Given the description of an element on the screen output the (x, y) to click on. 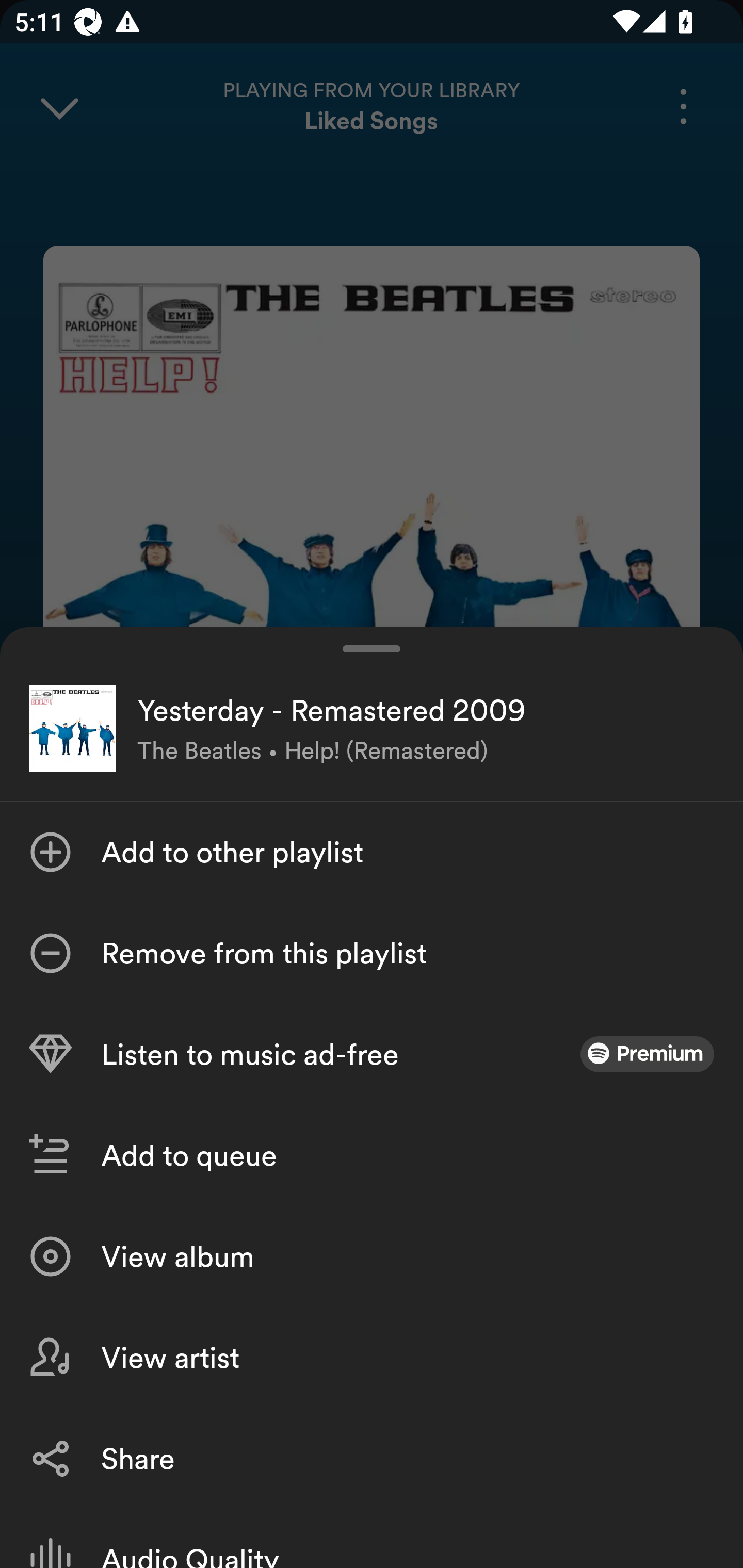
Add to other playlist (371, 852)
Remove from this playlist (371, 953)
Listen to music ad-free (371, 1054)
Add to queue (371, 1155)
View album (371, 1256)
View artist (371, 1357)
Share (371, 1458)
Audio Quality (371, 1538)
